Given the description of an element on the screen output the (x, y) to click on. 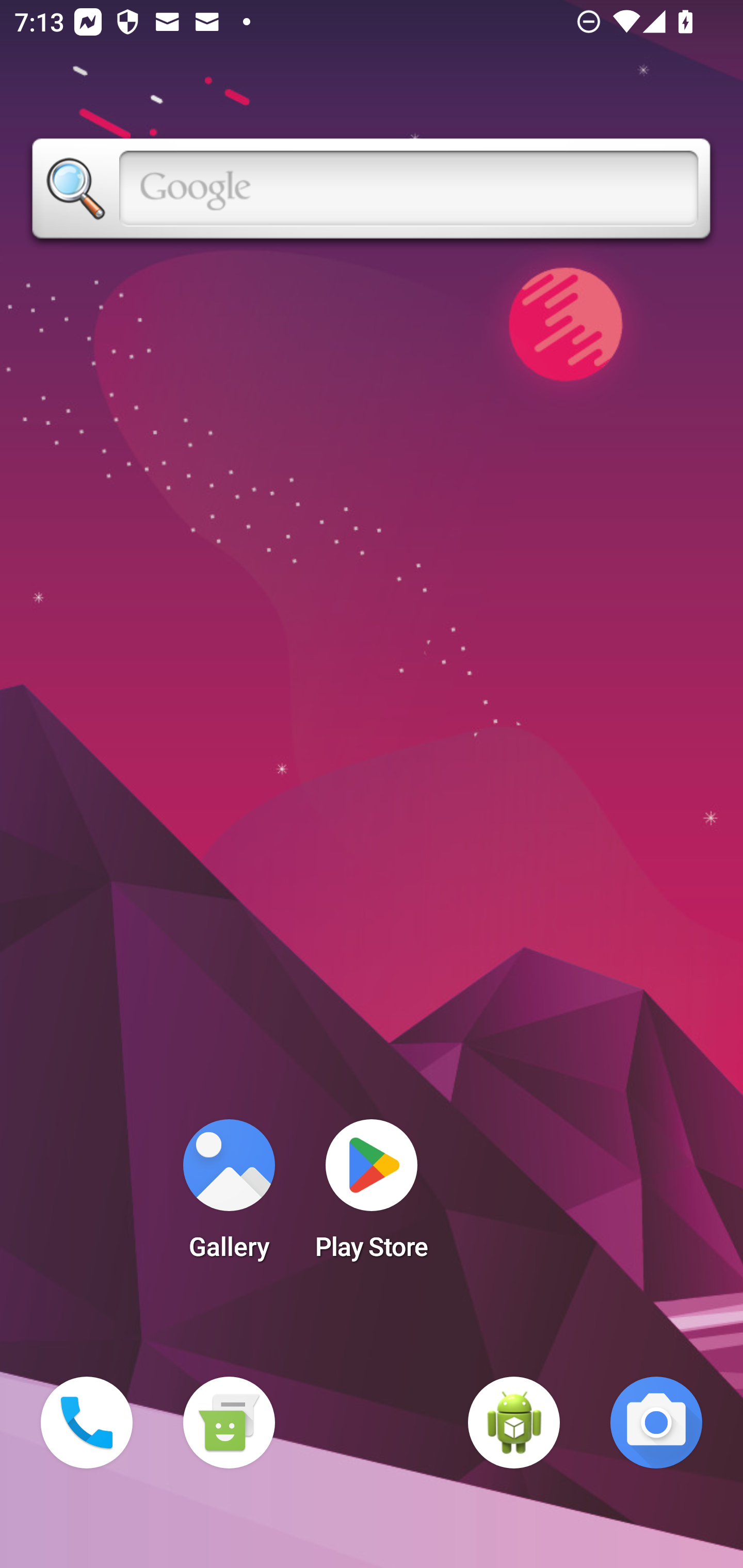
Gallery (228, 1195)
Play Store (371, 1195)
Phone (86, 1422)
Messaging (228, 1422)
WebView Browser Tester (513, 1422)
Camera (656, 1422)
